Given the description of an element on the screen output the (x, y) to click on. 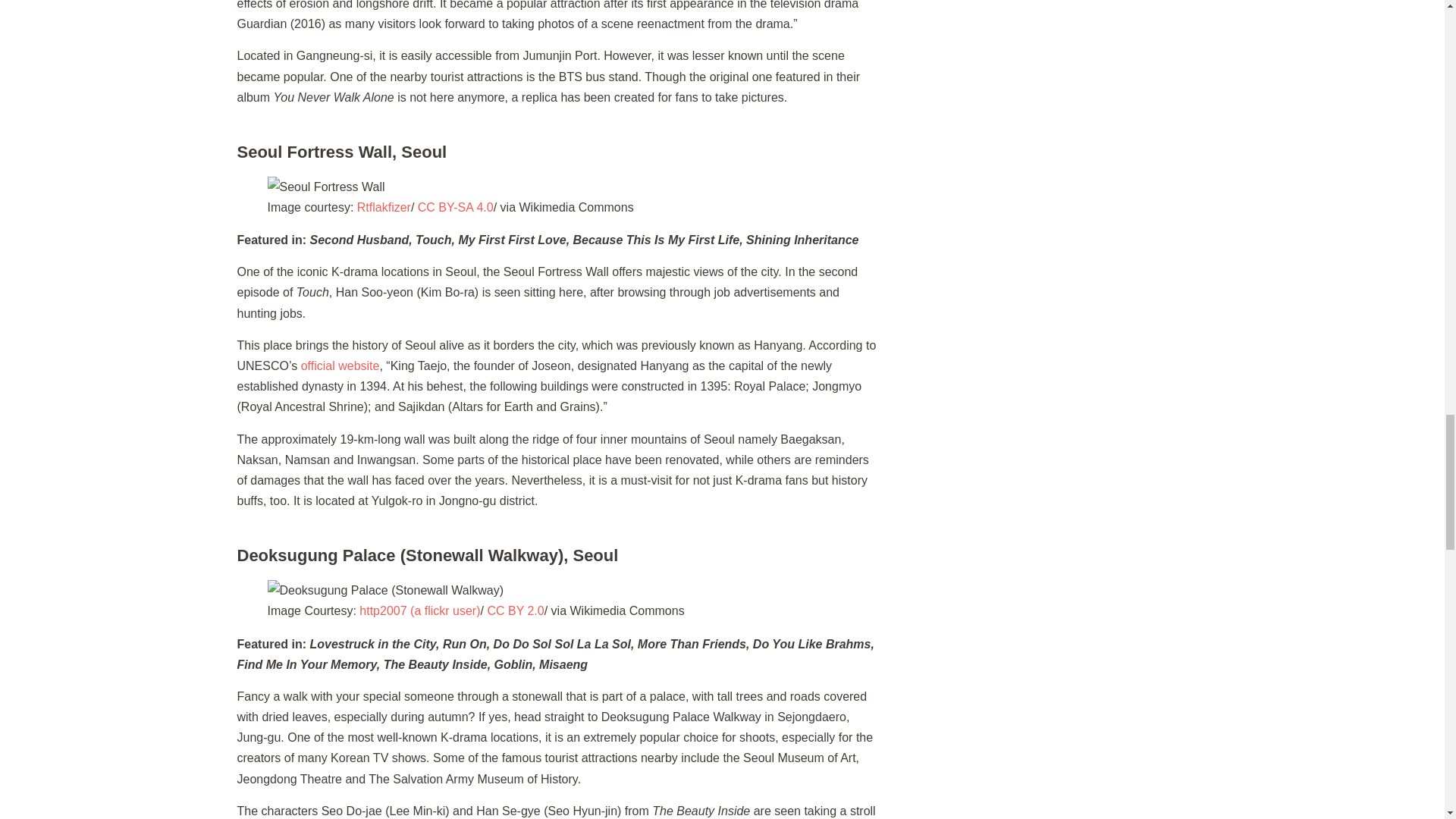
official website (340, 365)
CC BY 2.0 (514, 610)
CC BY-SA 4.0 (455, 206)
Rtflakfizer (383, 206)
